Given the description of an element on the screen output the (x, y) to click on. 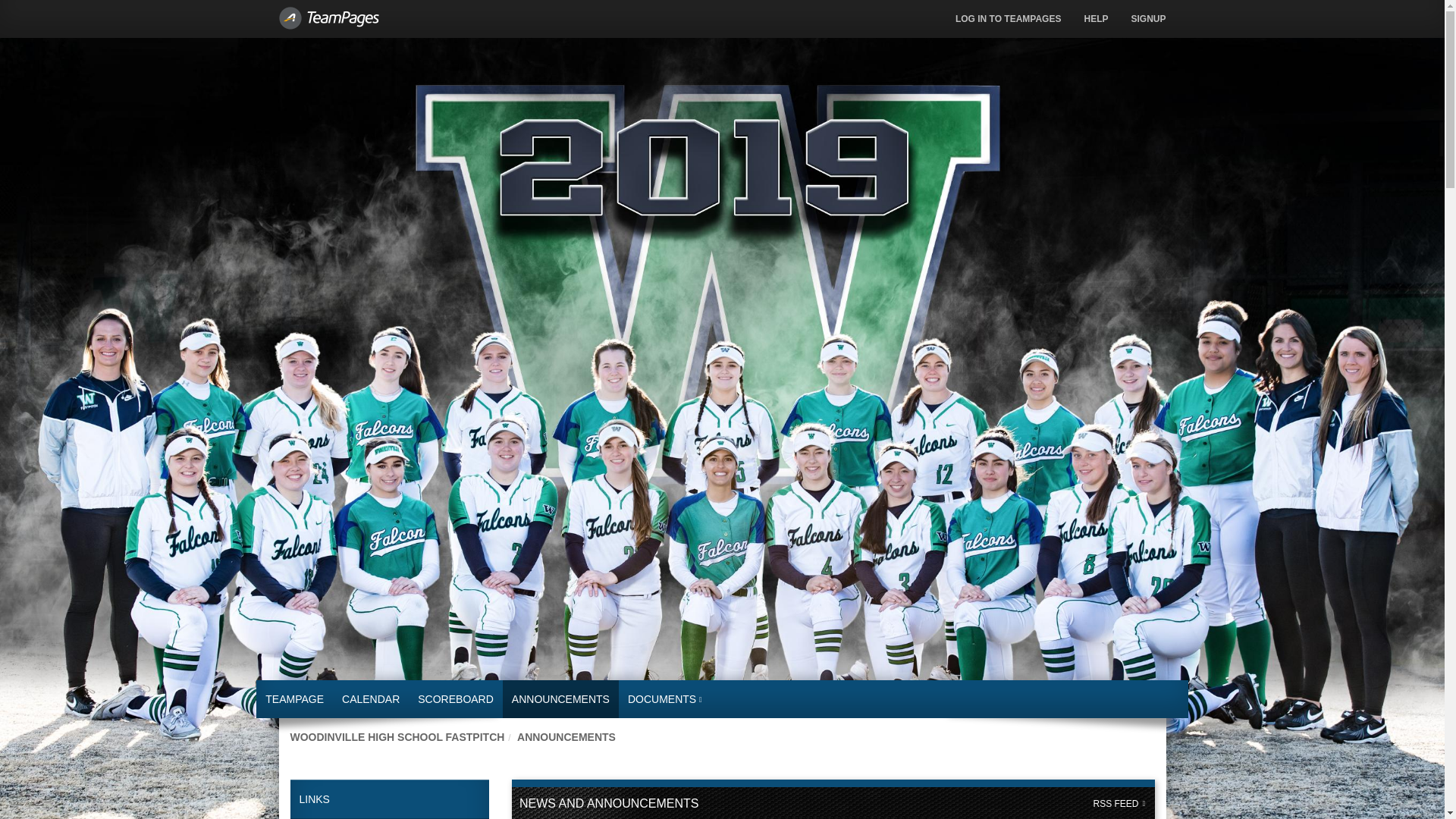
WOODINVILLE HIGH SCHOOL FASTPITCH (396, 736)
SCOREBOARD (455, 699)
TEAMPAGE (294, 699)
HELP (1095, 18)
CALENDAR (371, 699)
DOCUMENTS (664, 699)
ANNOUNCEMENTS (560, 699)
Team, League, and Club Websites - TeamPages.com (387, 10)
LINKS (389, 799)
LOG IN TO TEAMPAGES (1008, 18)
SIGNUP (1147, 18)
ANNOUNCEMENTS (565, 736)
